Given the description of an element on the screen output the (x, y) to click on. 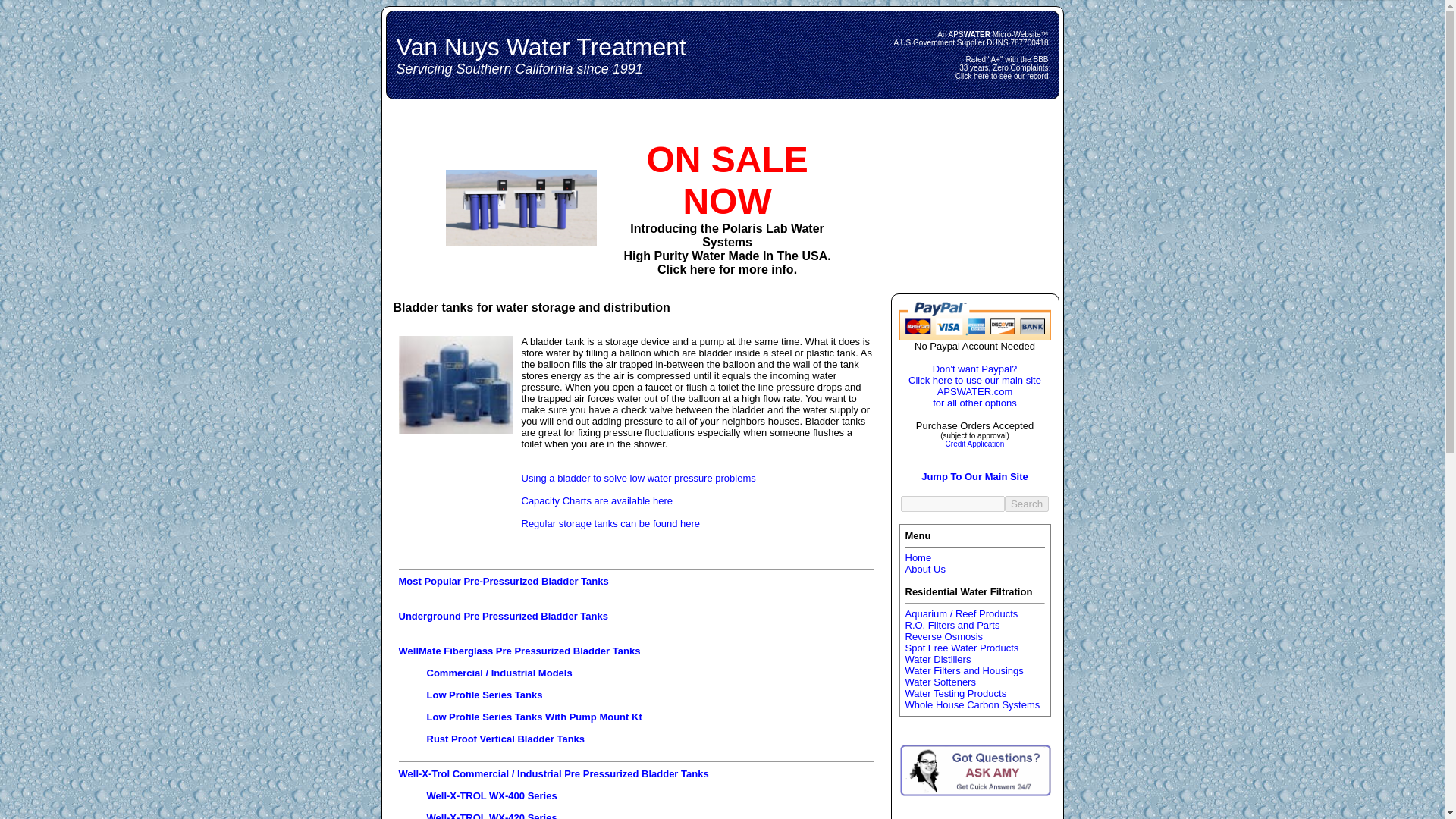
Jump To Our Main Site (974, 481)
Rust Proof Vertical Bladder Tanks (505, 738)
Regular storage tanks can be found here (610, 523)
Credit Application (974, 443)
van nuys water (975, 321)
Home (918, 557)
Spot Free Water Products (962, 647)
Water Softeners (940, 681)
Reverse Osmosis (944, 636)
Low Profile Series Tanks With Pump Mount Kt (534, 716)
Underground Pre Pressurized Bladder Tanks (503, 615)
